Given the description of an element on the screen output the (x, y) to click on. 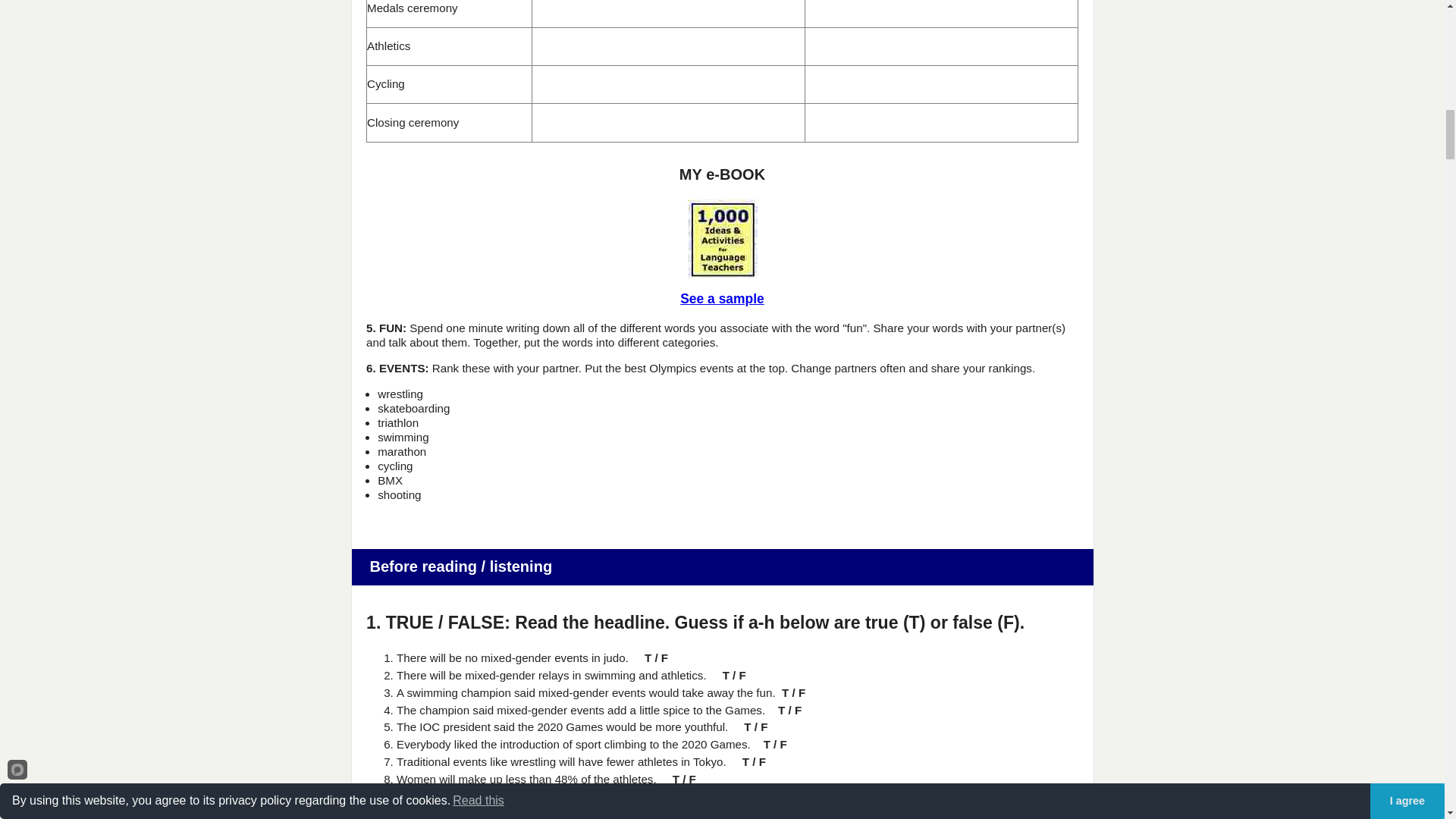
See a sample (722, 299)
